Given the description of an element on the screen output the (x, y) to click on. 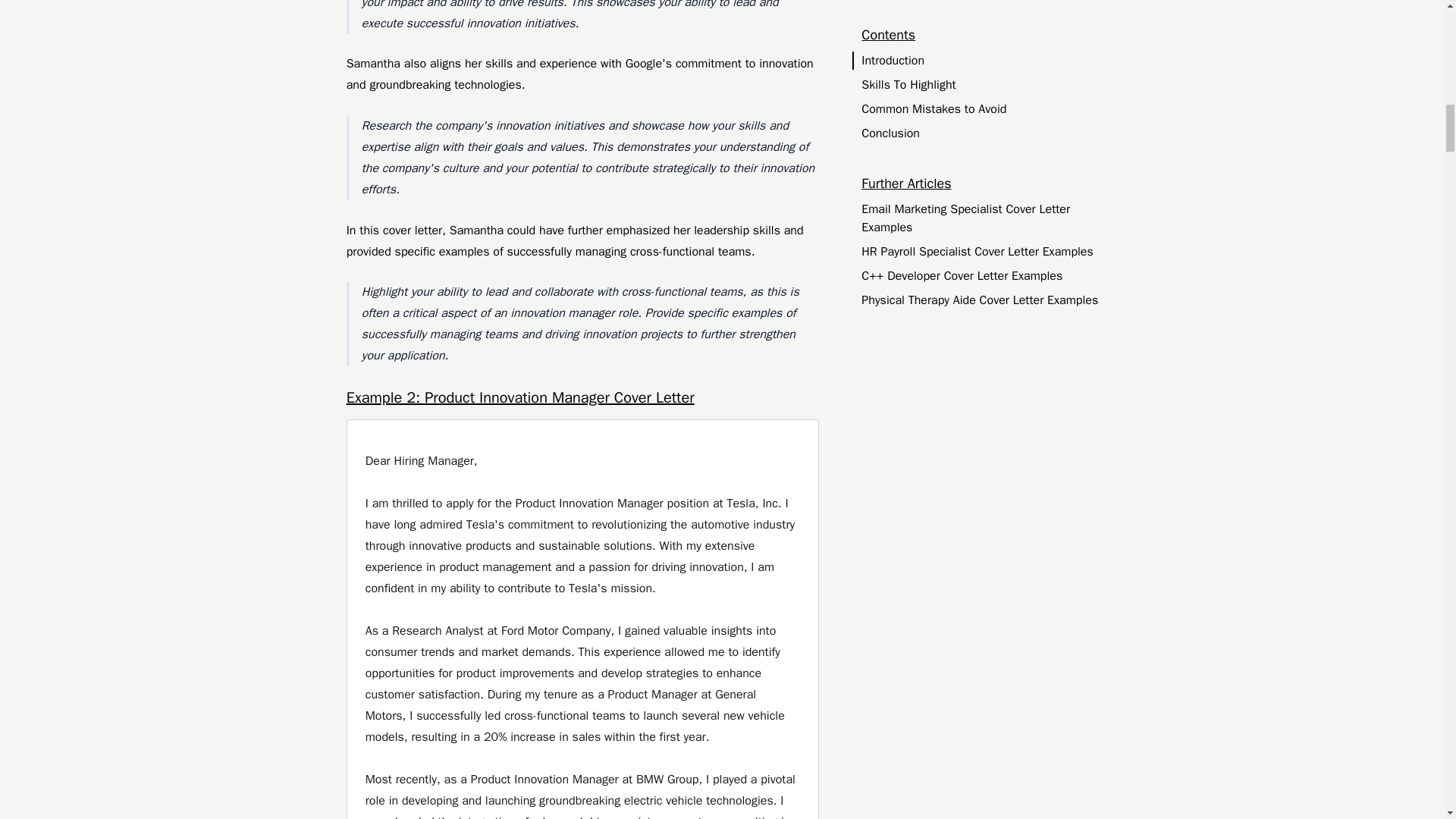
Example 2: Product Innovation Manager Cover Letter (582, 397)
